Given the description of an element on the screen output the (x, y) to click on. 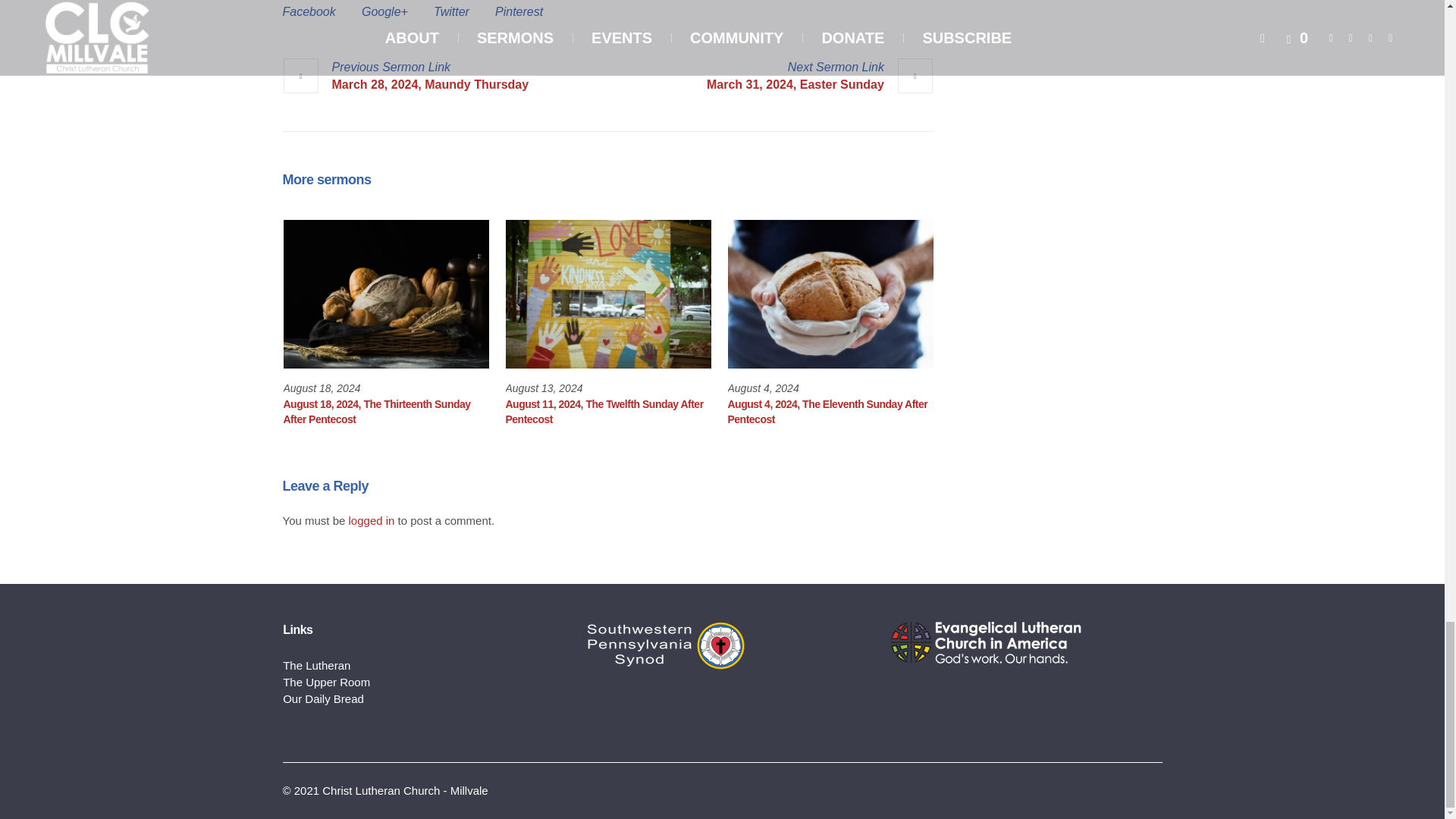
Facebook (308, 11)
logged in (371, 520)
August 18, 2024, The Thirteenth Sunday After Pentecost (386, 294)
August 11, 2024, The Twelfth Sunday After Pentecost (604, 411)
August 4, 2024, The Eleventh Sunday After Pentecost (828, 411)
March 31, 2024, Easter Sunday (819, 75)
Twitter (450, 11)
Pinterest (519, 11)
August 18, 2024, The Thirteenth Sunday After Pentecost (376, 411)
March 28, 2024, Maundy Thursday (405, 75)
